Given the description of an element on the screen output the (x, y) to click on. 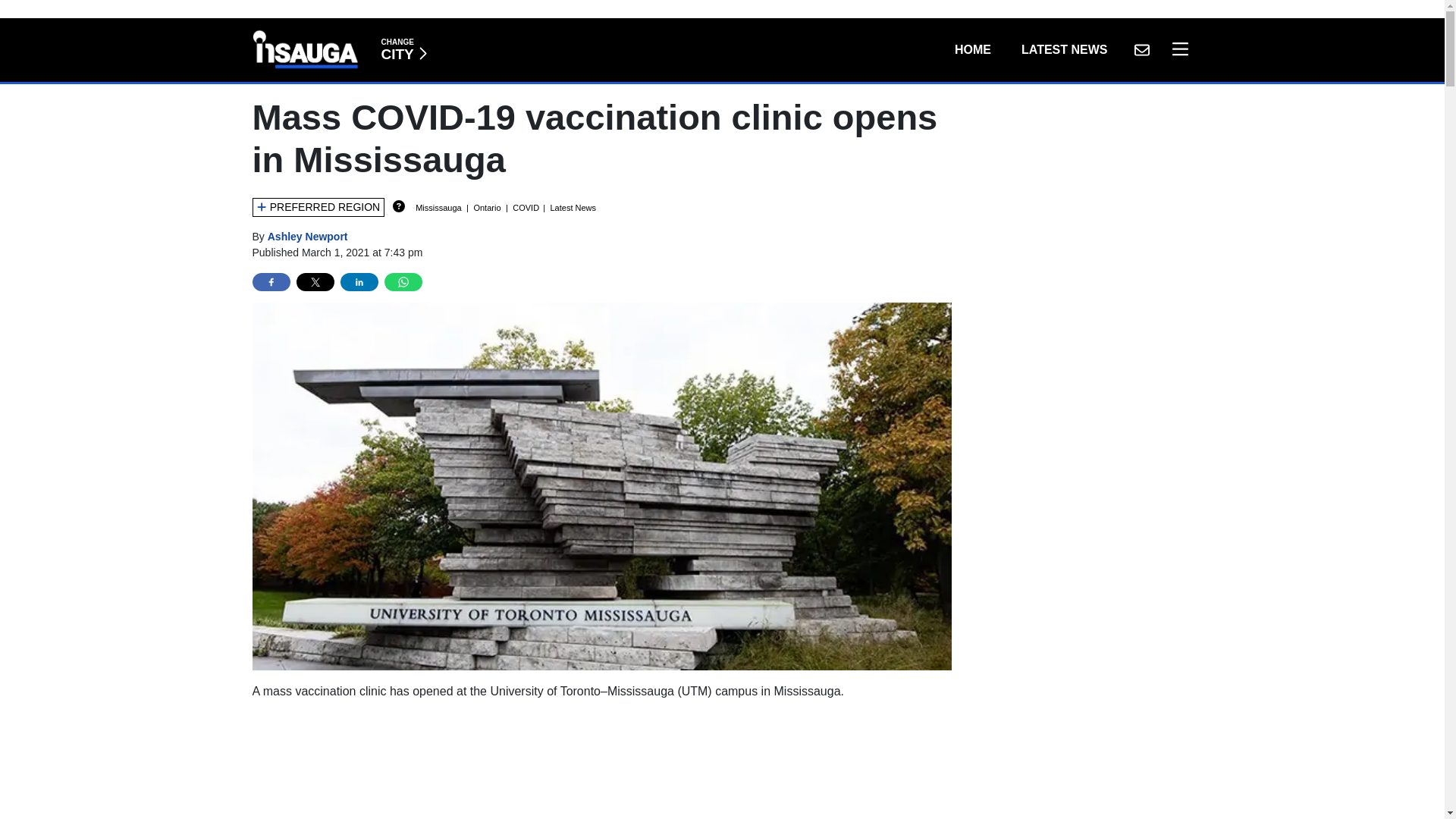
Posts by 201 (307, 236)
HOME (972, 49)
OPEN MENU (1176, 50)
3rd party ad content (601, 765)
SIGN UP FOR OUR NEWSLETTER (402, 50)
LATEST NEWS (1141, 50)
3rd party ad content (1064, 49)
